Given the description of an element on the screen output the (x, y) to click on. 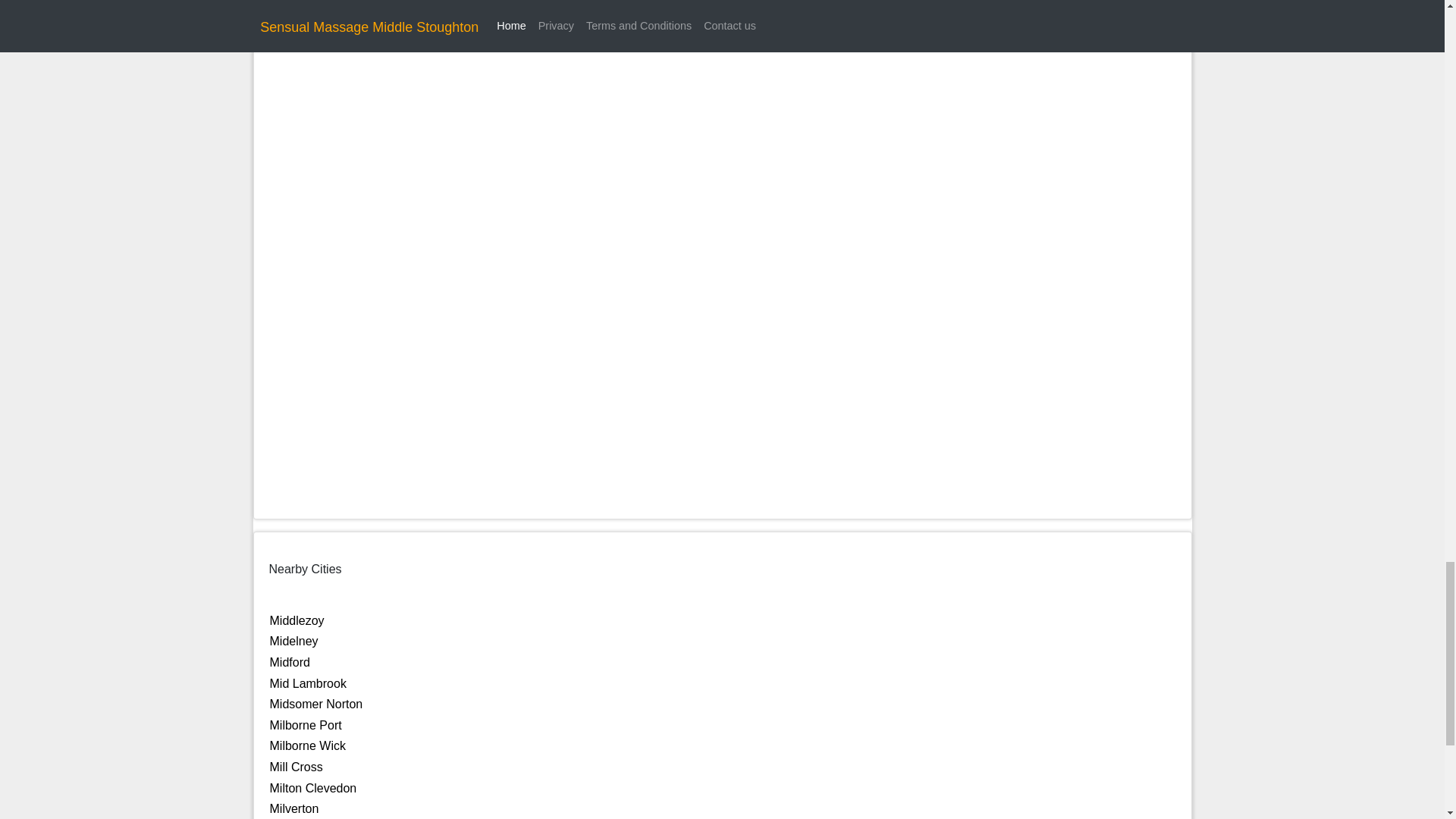
Midford (289, 662)
Middlezoy (296, 620)
Milton Clevedon (312, 788)
Milborne Port (305, 725)
Mill Cross (296, 766)
Midsomer Norton (315, 703)
Milverton (293, 808)
Mid Lambrook (307, 683)
Midelney (293, 640)
Milborne Wick (307, 745)
